Given the description of an element on the screen output the (x, y) to click on. 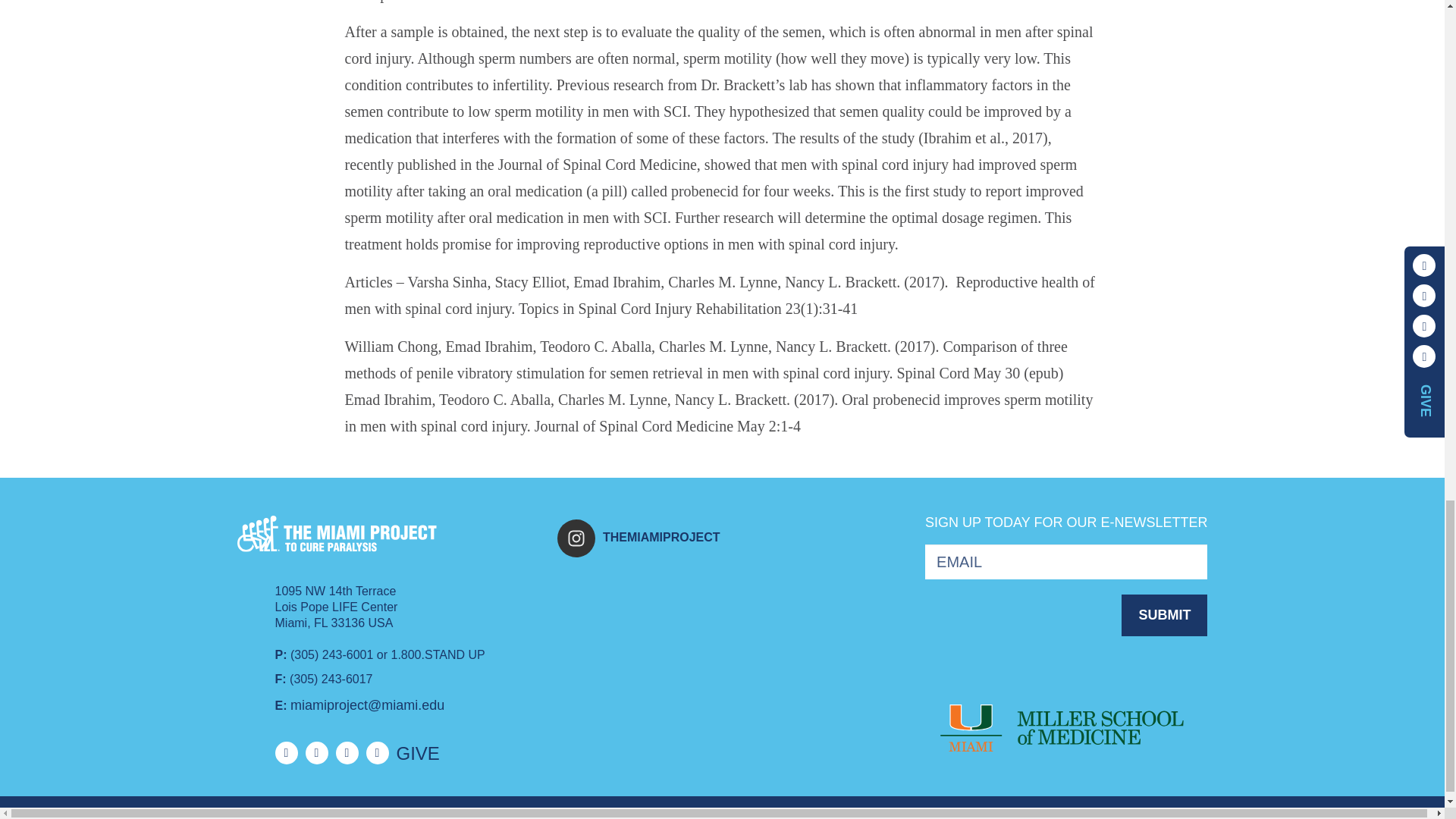
SUBMIT (1164, 615)
Instagram (376, 753)
YouTube (346, 753)
Facebook (286, 753)
Twitter (315, 753)
THEMIAMIPROJECT (705, 538)
GIVE (417, 754)
